Given the description of an element on the screen output the (x, y) to click on. 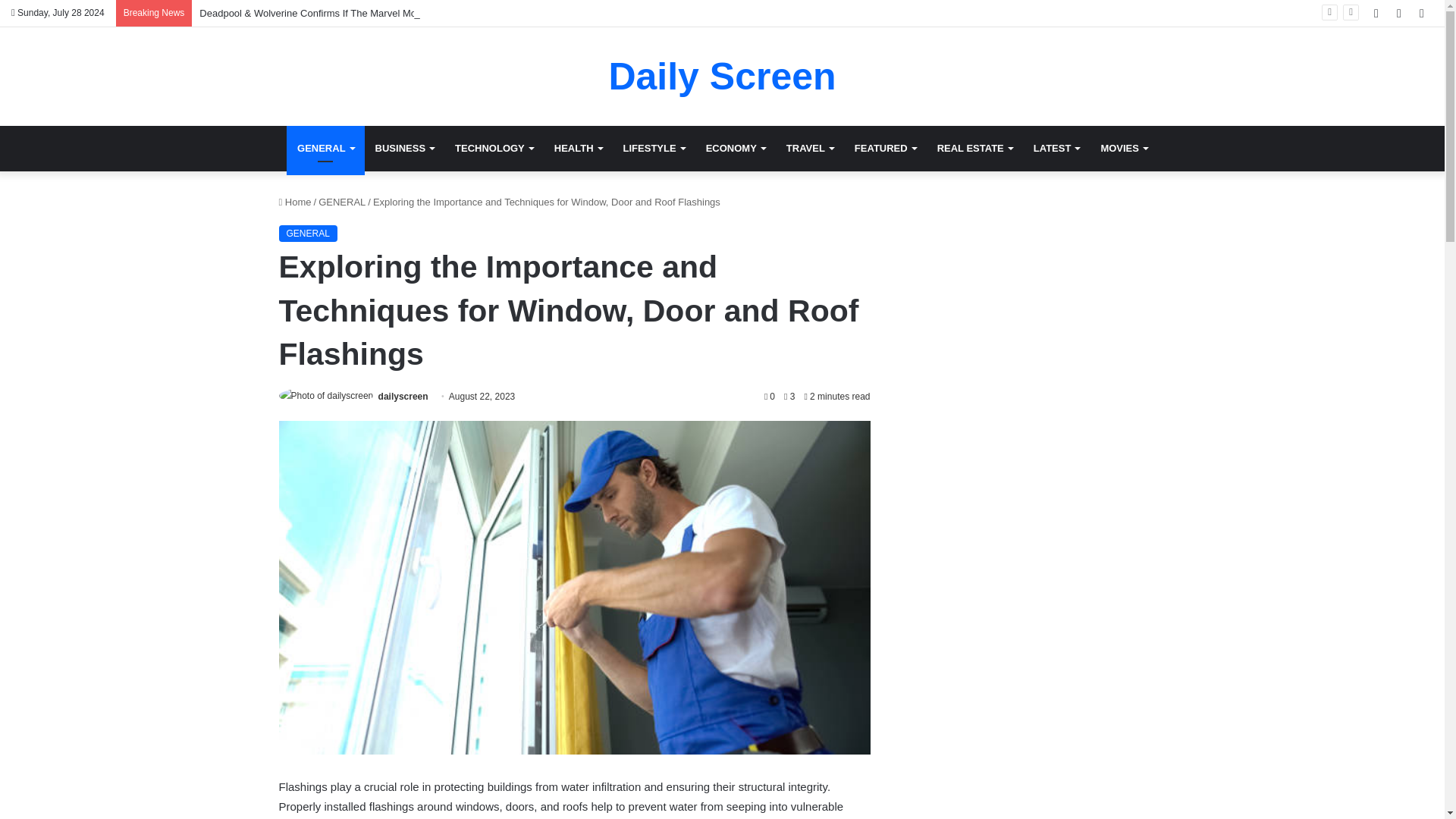
dailyscreen (403, 396)
GENERAL (308, 233)
FEATURED (885, 148)
LATEST (1056, 148)
GENERAL (325, 148)
REAL ESTATE (974, 148)
dailyscreen (403, 396)
GENERAL (341, 202)
Home (295, 202)
LIFESTYLE (653, 148)
MOVIES (1123, 148)
BUSINESS (404, 148)
Daily Screen (721, 76)
TRAVEL (810, 148)
